Given the description of an element on the screen output the (x, y) to click on. 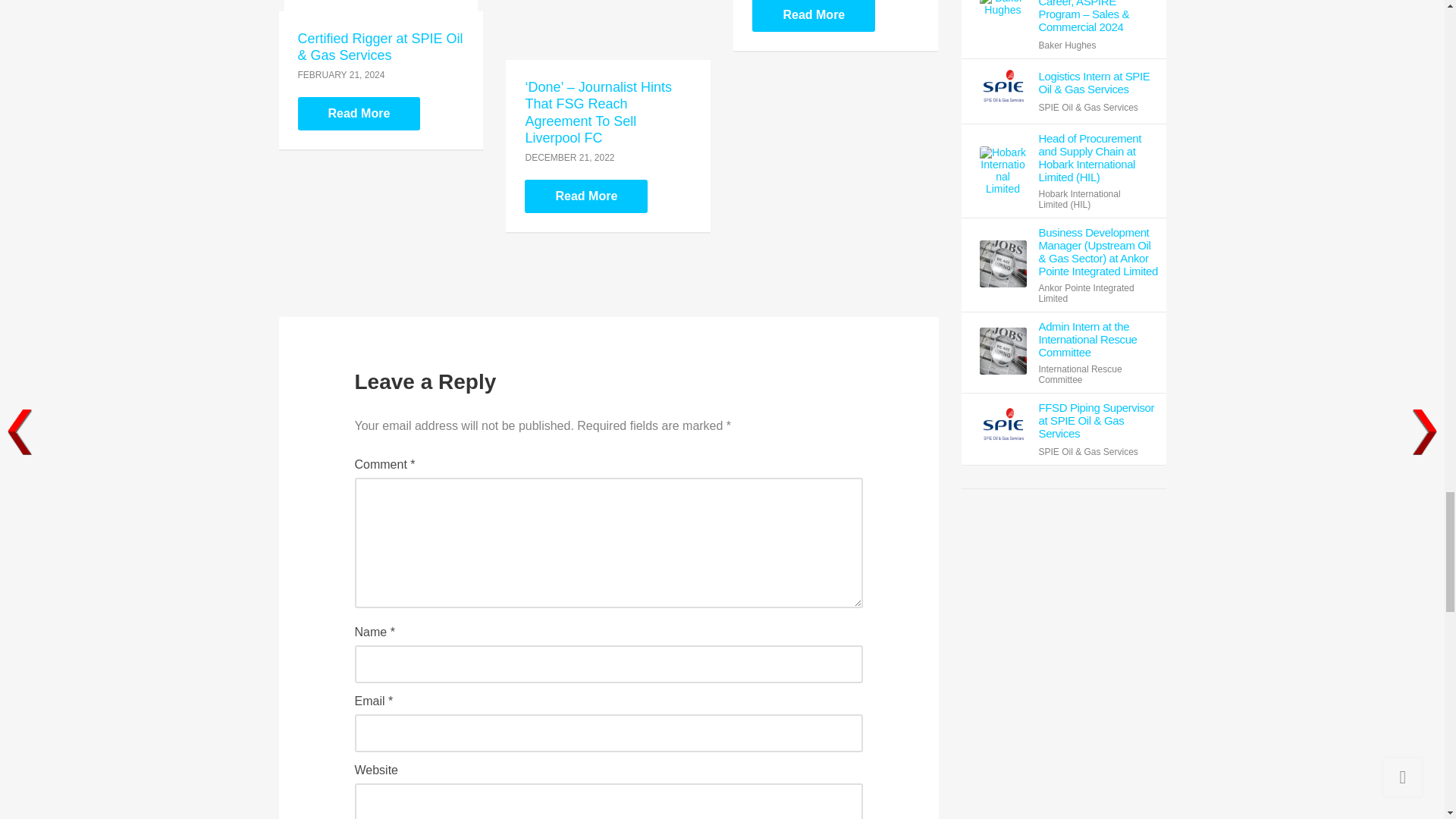
Read More (358, 113)
Read More (813, 15)
Read More (585, 195)
